Given the description of an element on the screen output the (x, y) to click on. 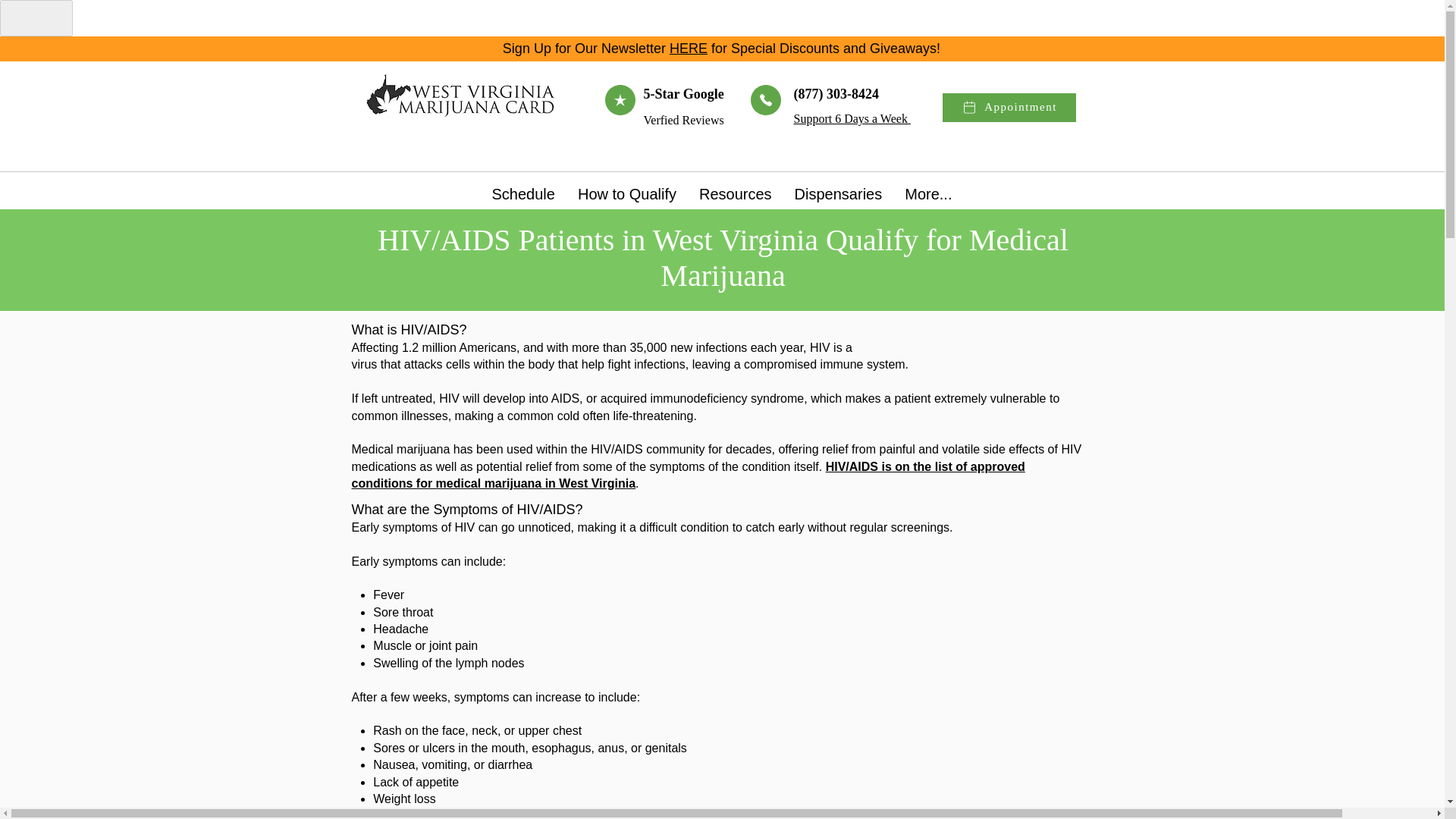
Appointment (1009, 107)
for Special Discounts and Giveaways! (825, 48)
Schedule (523, 193)
Dispensaries (838, 193)
5-Star Google (683, 93)
Verfied Reviews (683, 119)
HERE (688, 48)
How to Qualify (626, 193)
Support 6 Days a Week  (851, 118)
